Given the description of an element on the screen output the (x, y) to click on. 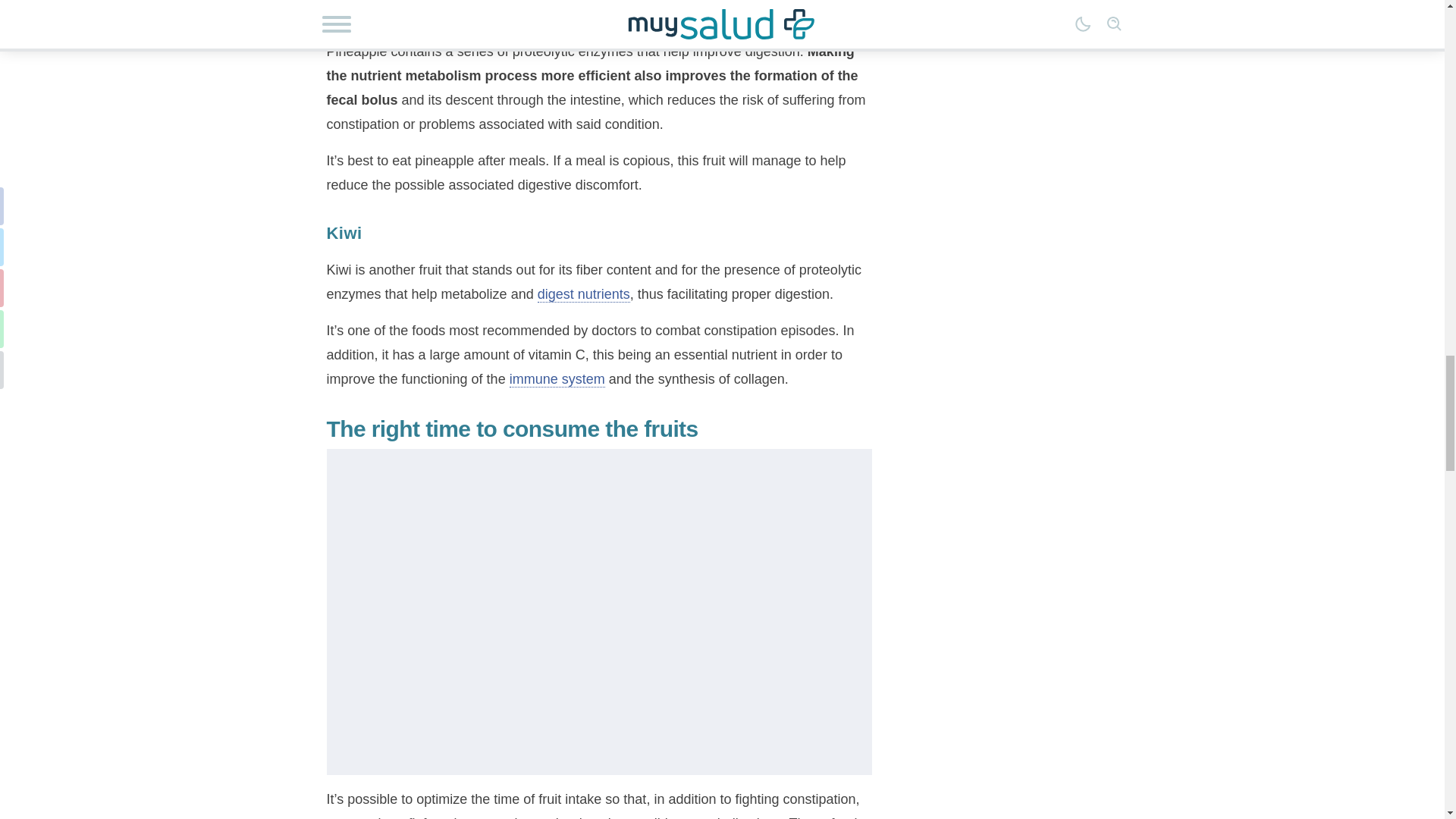
digest nutrients (583, 294)
immune system (557, 379)
